Given the description of an element on the screen output the (x, y) to click on. 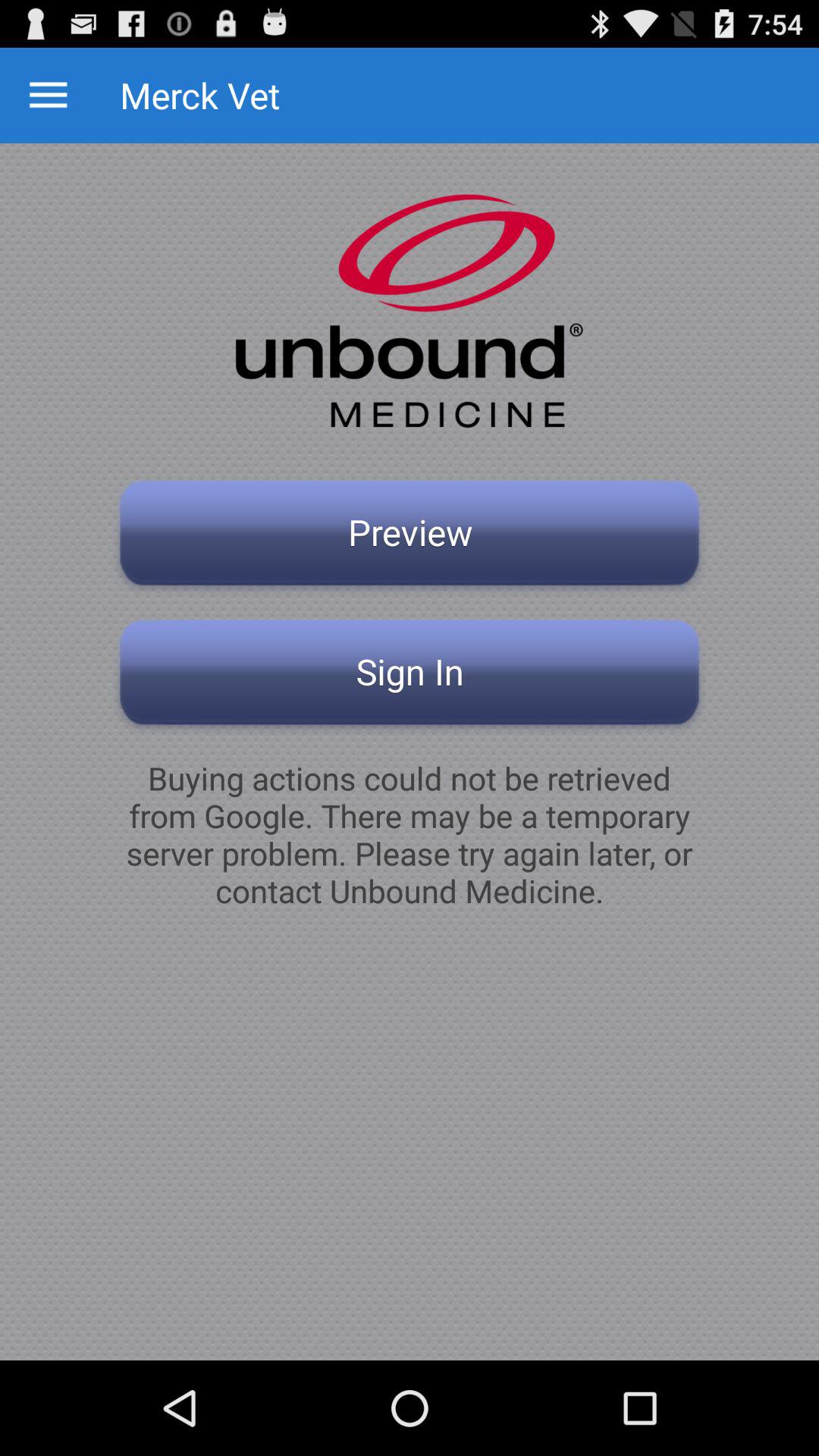
tap the preview icon (409, 537)
